Given the description of an element on the screen output the (x, y) to click on. 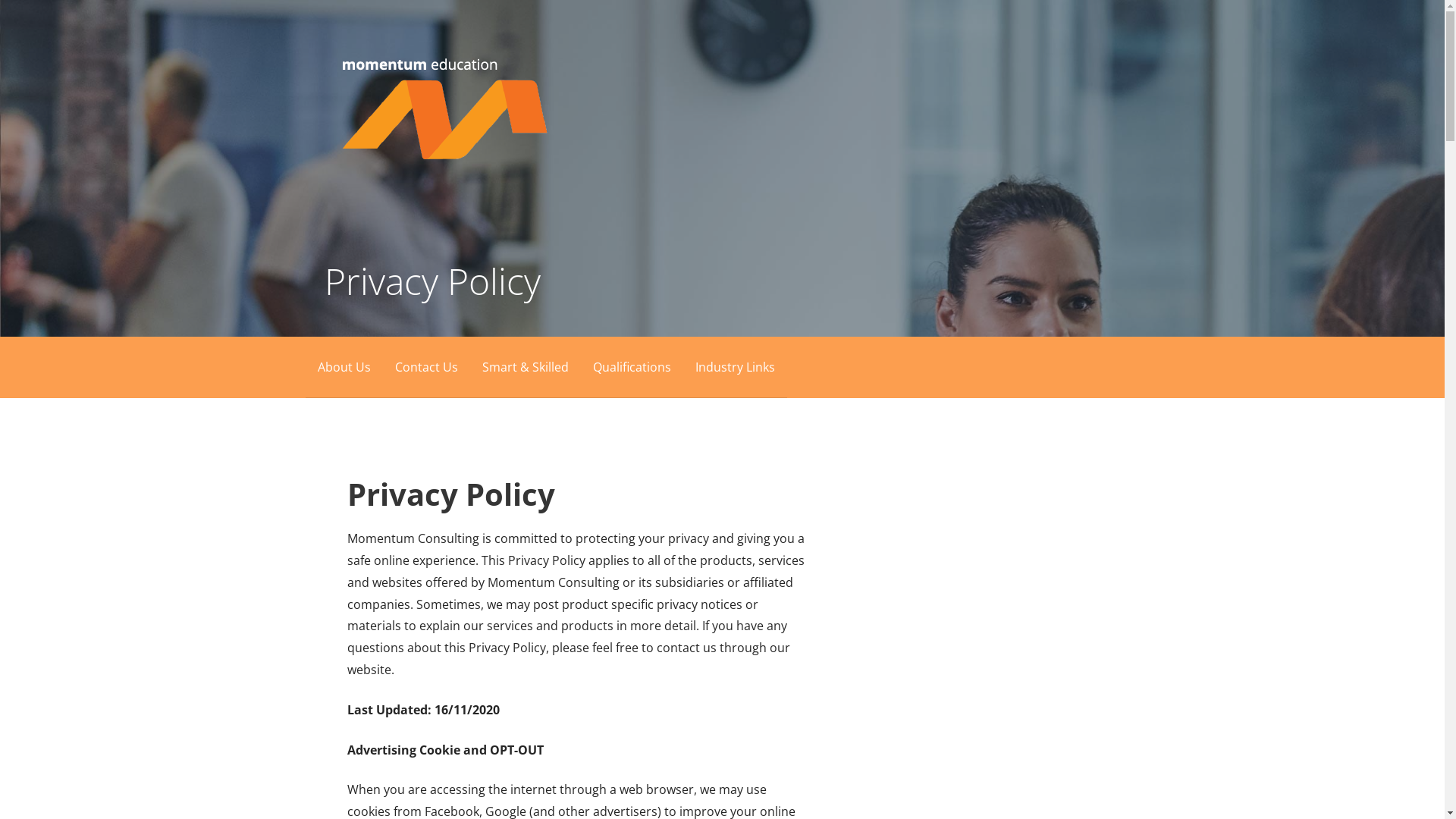
Contact Us Element type: text (425, 367)
Industry Links Element type: text (734, 367)
Smart & Skilled Element type: text (525, 367)
Qualifications Element type: text (631, 367)
About Us Element type: text (343, 367)
